Given the description of an element on the screen output the (x, y) to click on. 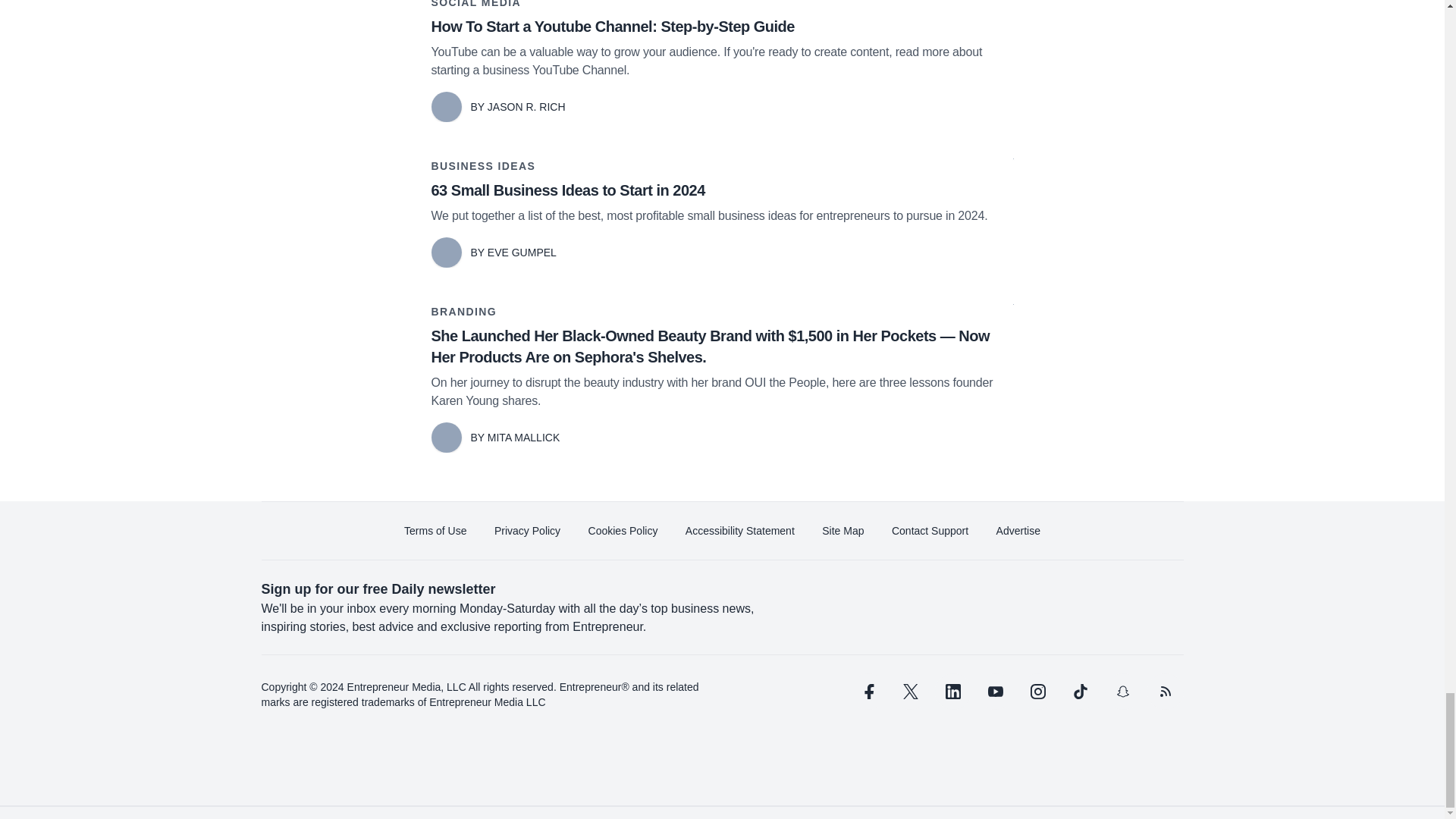
instagram (1037, 691)
linkedin (952, 691)
facebook (866, 691)
tiktok (1079, 691)
snapchat (1121, 691)
twitter (909, 691)
youtube (994, 691)
